Given the description of an element on the screen output the (x, y) to click on. 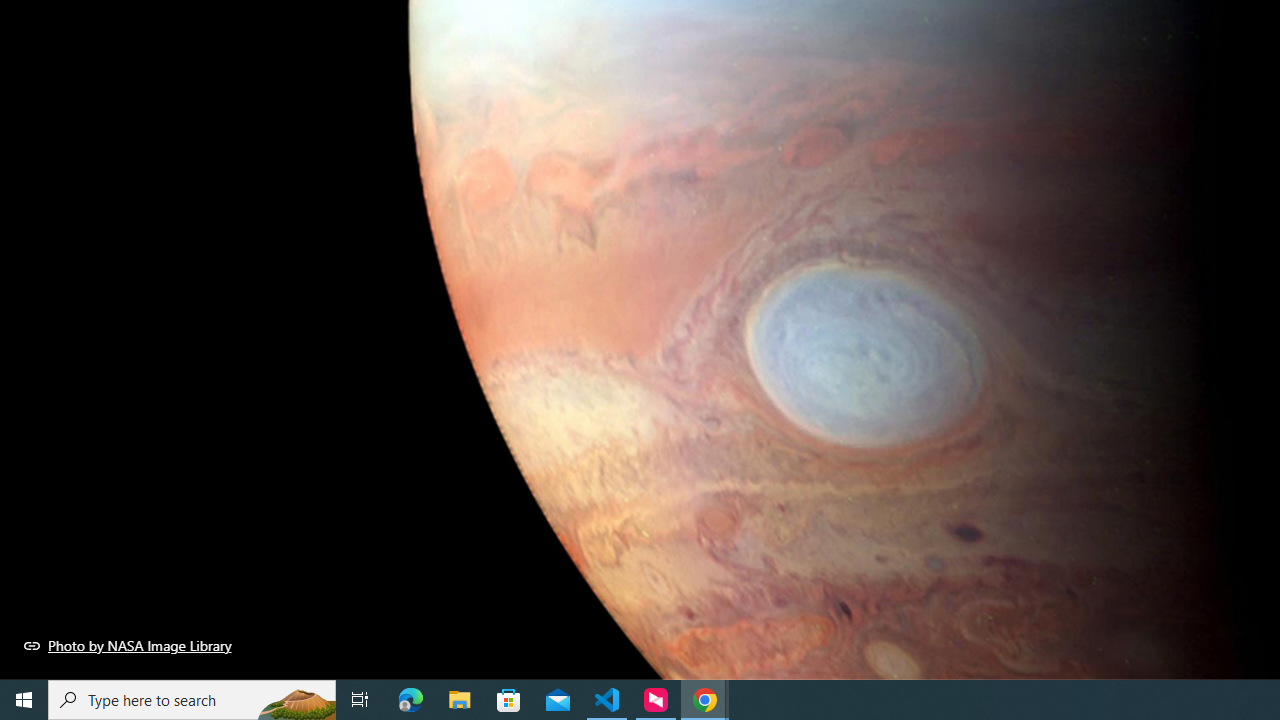
Photo by NASA Image Library (127, 645)
